Given the description of an element on the screen output the (x, y) to click on. 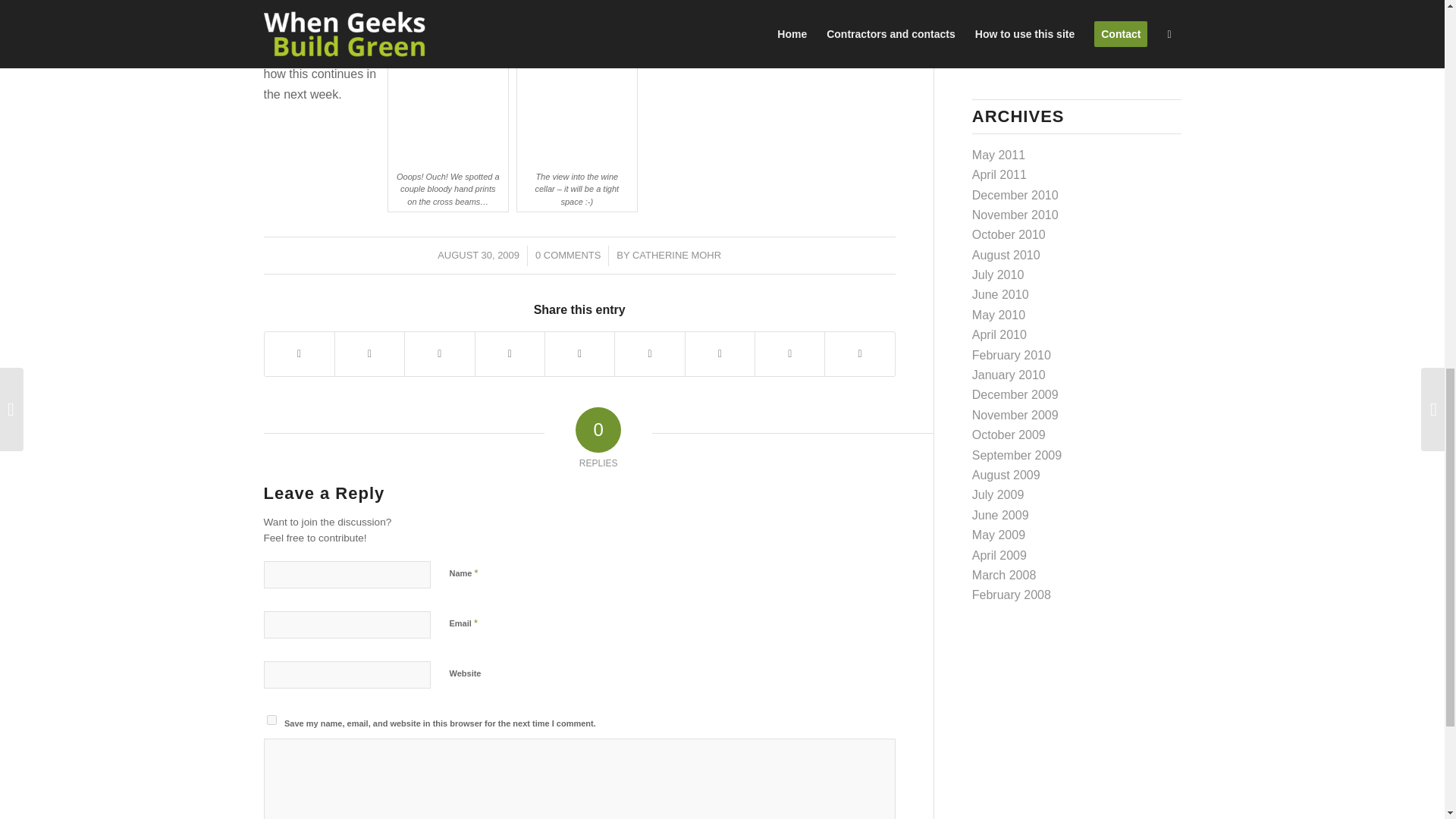
Posts by Catherine Mohr (675, 255)
CATHERINE MOHR (675, 255)
yes (271, 719)
0 COMMENTS (567, 255)
